Given the description of an element on the screen output the (x, y) to click on. 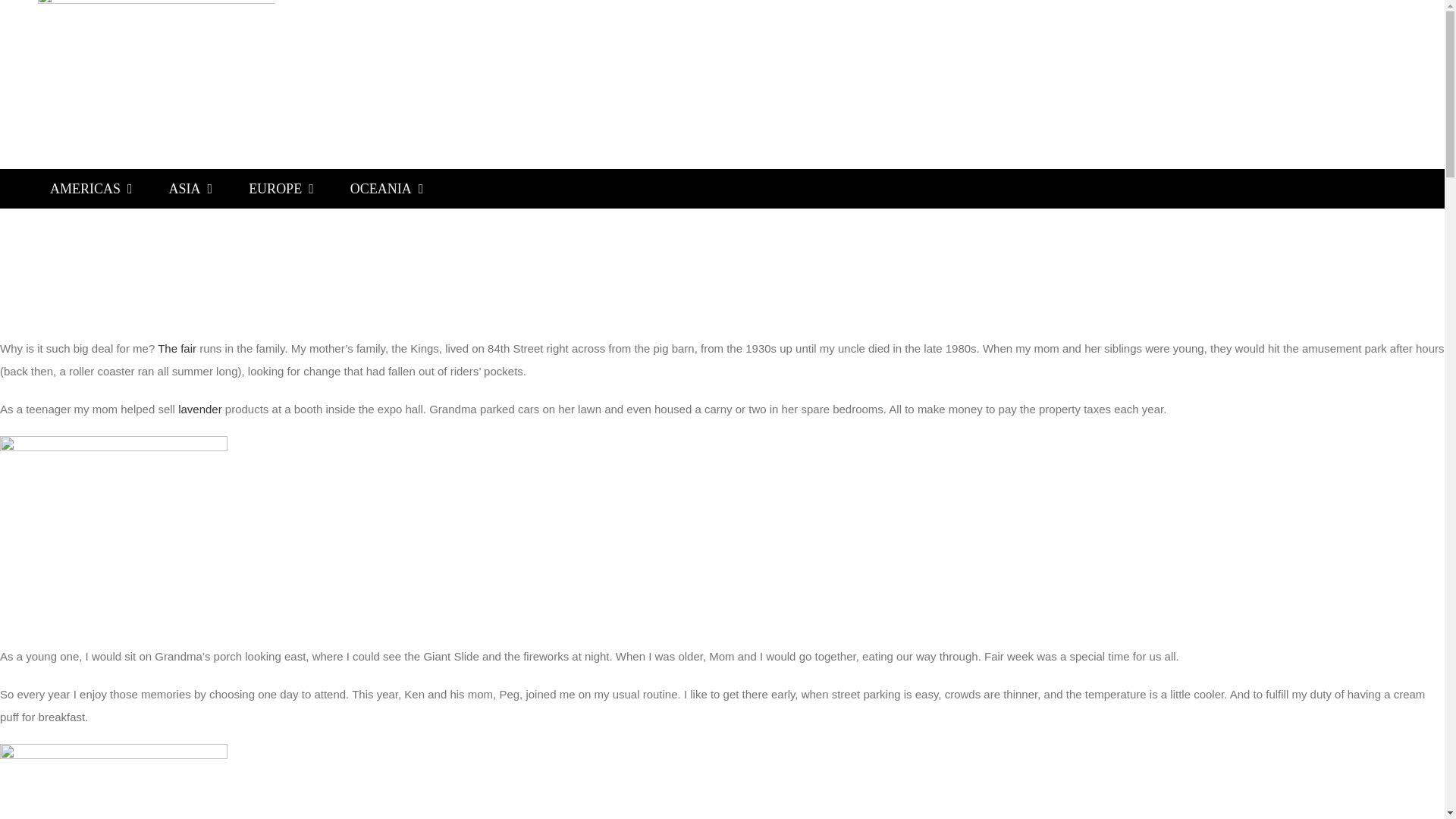
OCEANIA (386, 188)
AMERICAS (90, 188)
Grandma and me (113, 208)
The kids (113, 532)
ASIA (191, 188)
Milwaukee (654, 67)
Ultimate cream puffs (113, 781)
The fair (176, 348)
EUROPE (280, 188)
lavender (199, 408)
